Given the description of an element on the screen output the (x, y) to click on. 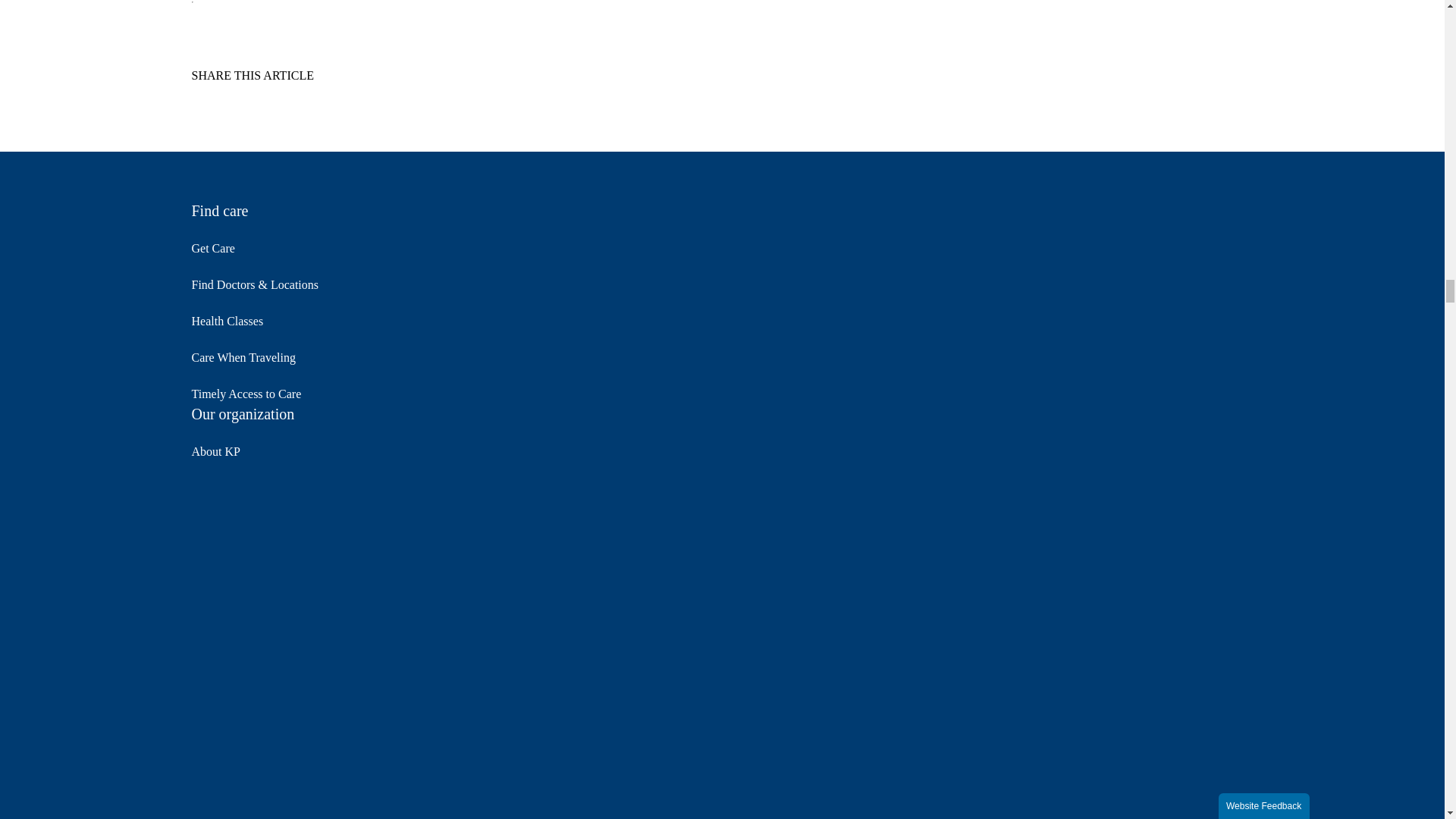
Opens in a new window, external (293, 98)
Opens in a new window, external (338, 98)
Opens in a new window, external (249, 98)
